Given the description of an element on the screen output the (x, y) to click on. 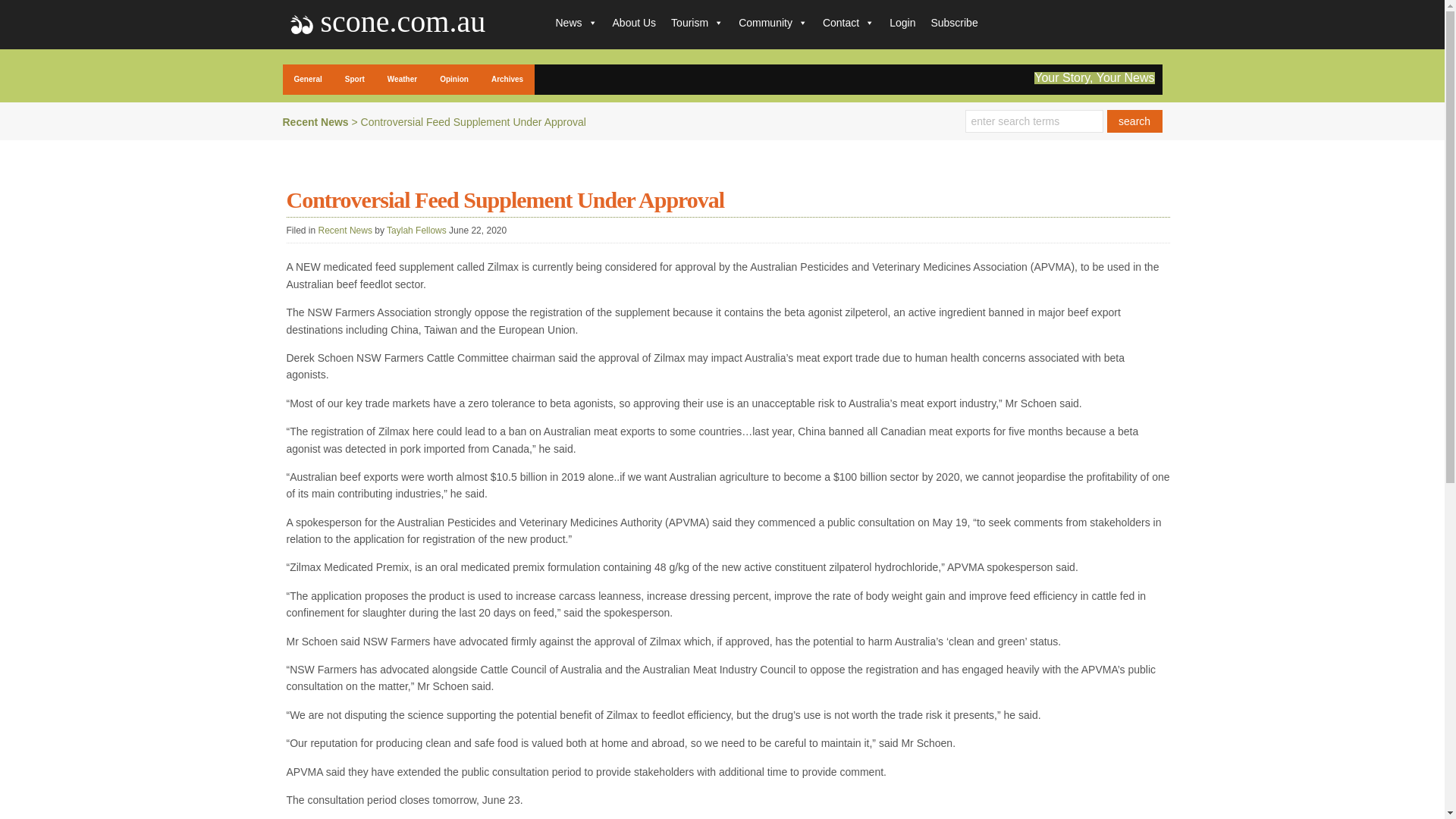
Community (772, 22)
Subscribe (954, 22)
Enter Search Terms (1032, 120)
News (575, 22)
Posts by Taylah Fellows (416, 230)
scone.com.au (403, 24)
Tourism (696, 22)
search (1133, 120)
About Us (634, 22)
Login (902, 22)
Contact (848, 22)
